Given the description of an element on the screen output the (x, y) to click on. 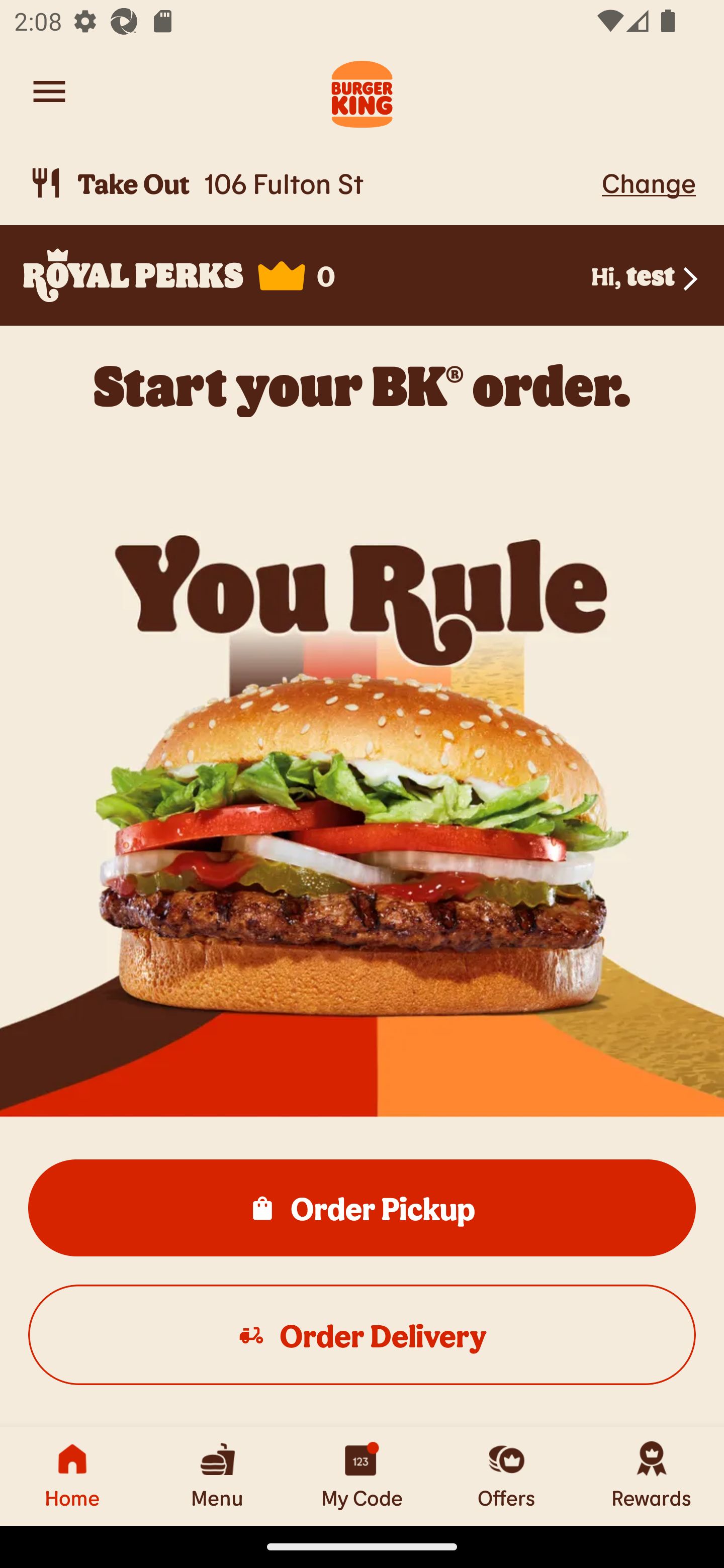
Burger King Logo. Navigate to Home (362, 91)
Navigate to account menu  (49, 91)
Take Out, 106 Fulton St  Take Out 106 Fulton St (311, 183)
Change (648, 182)
Start your BK® order. (361, 385)
, Order Pickup  Order Pickup (361, 1206)
, Order Delivery  Order Delivery (361, 1334)
Home (72, 1475)
Menu (216, 1475)
My Code (361, 1475)
Offers (506, 1475)
Rewards (651, 1475)
